Given the description of an element on the screen output the (x, y) to click on. 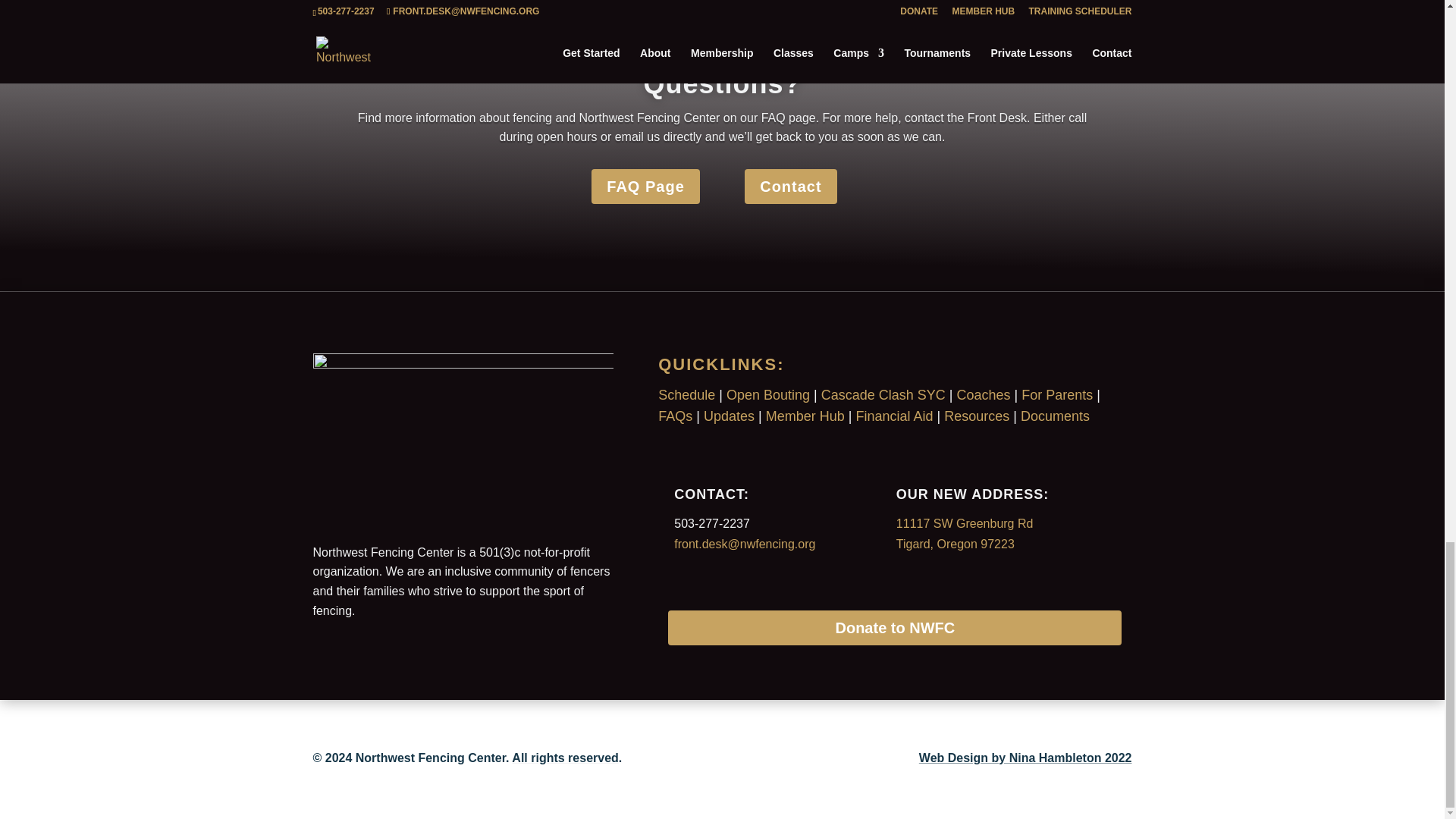
Schedule (686, 394)
Nina Hambleton (1025, 757)
Resources (976, 416)
Updates (728, 416)
Cascade Clash SYC (882, 394)
Coaches (983, 394)
FAQ Page (644, 185)
Coaches (983, 394)
Cascade Clash SYC (882, 394)
Financial Aid (894, 416)
